Given the description of an element on the screen output the (x, y) to click on. 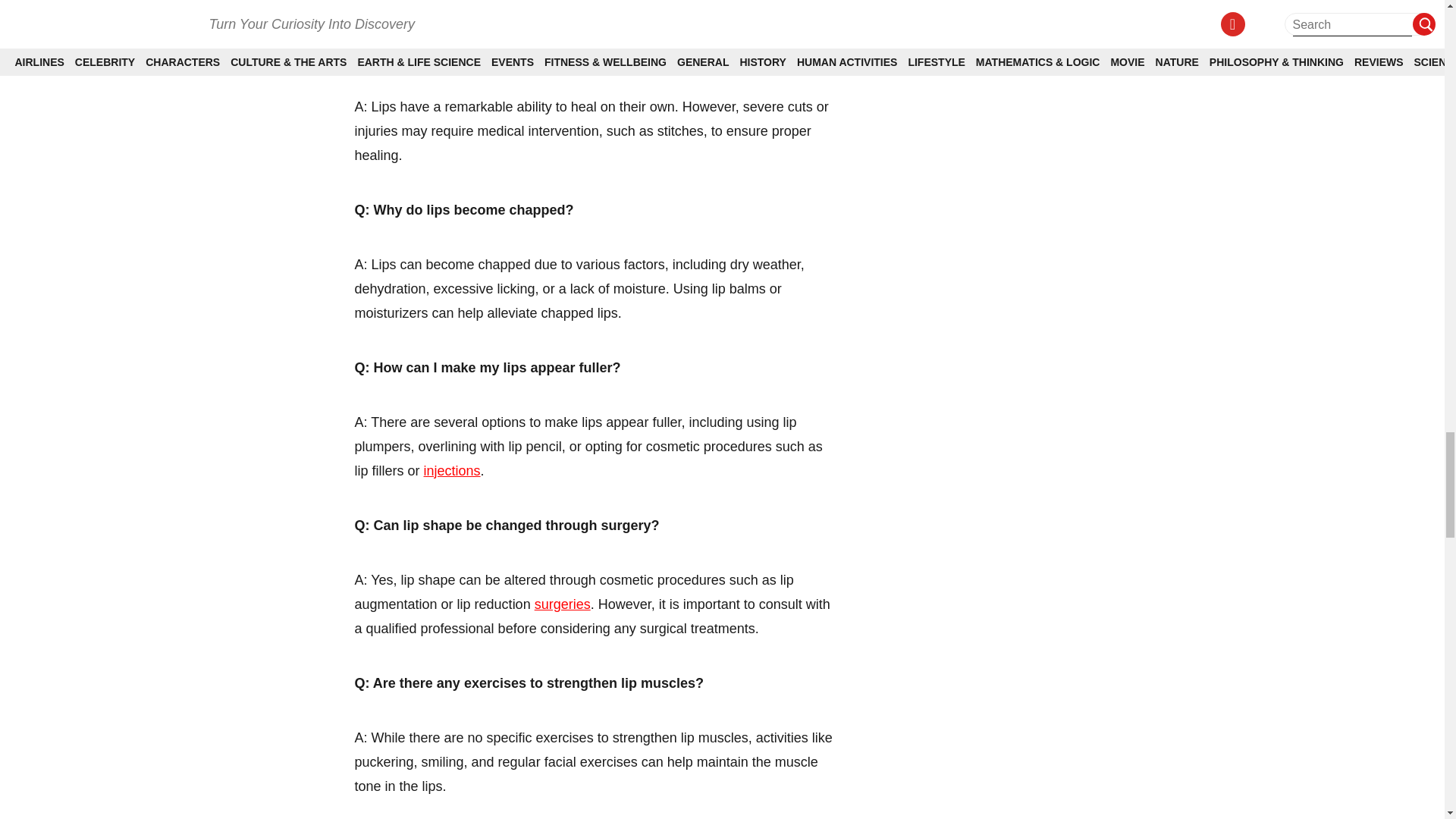
injections (451, 470)
pink hue (724, 2)
surgeries (562, 604)
